Given the description of an element on the screen output the (x, y) to click on. 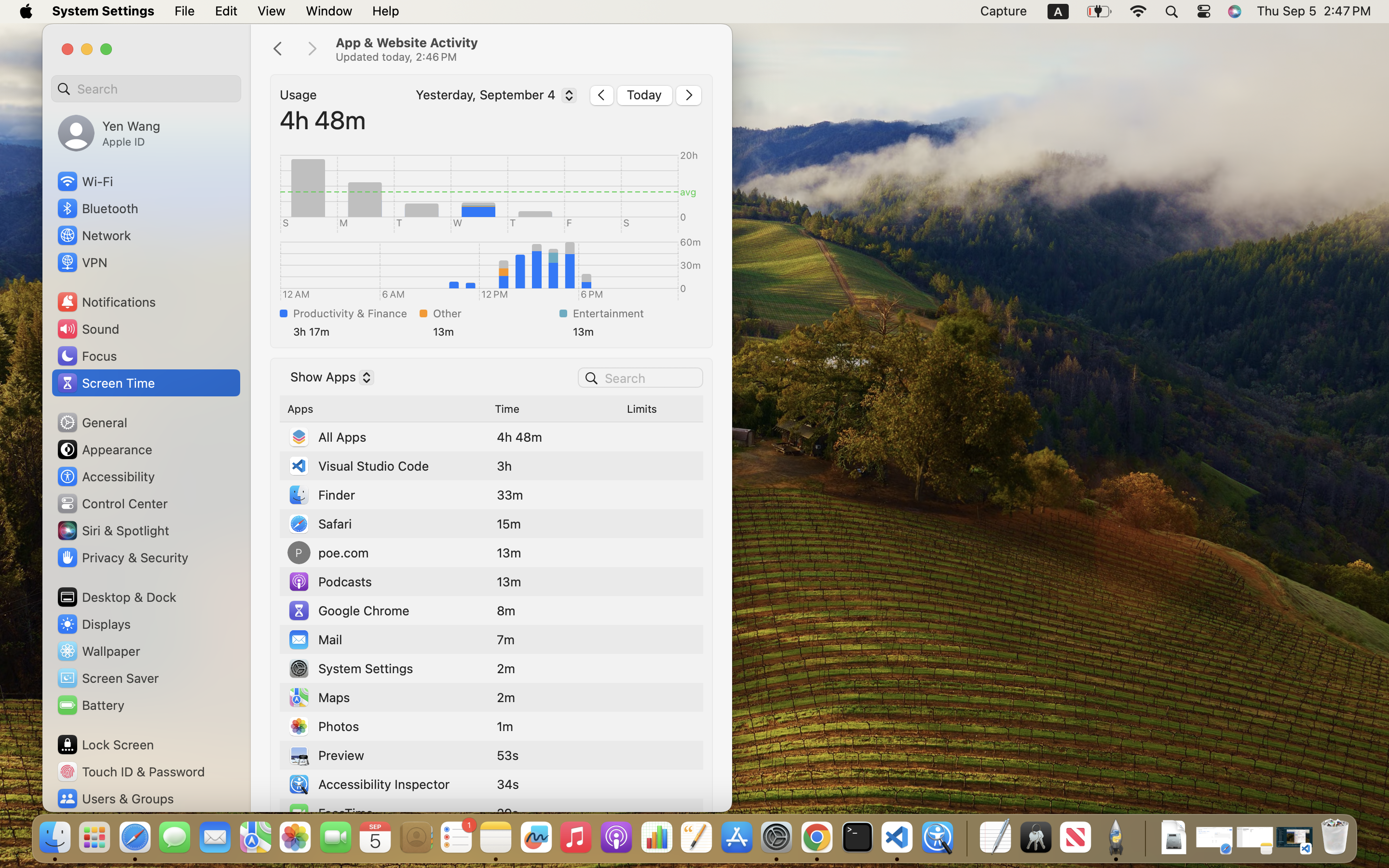
Accessibility Element type: AXStaticText (105, 476)
Safari Element type: AXStaticText (319, 523)
Updated today, 2:46 PM Element type: AXStaticText (523, 49)
VPN Element type: AXStaticText (81, 261)
Wallpaper Element type: AXStaticText (97, 650)
